Given the description of an element on the screen output the (x, y) to click on. 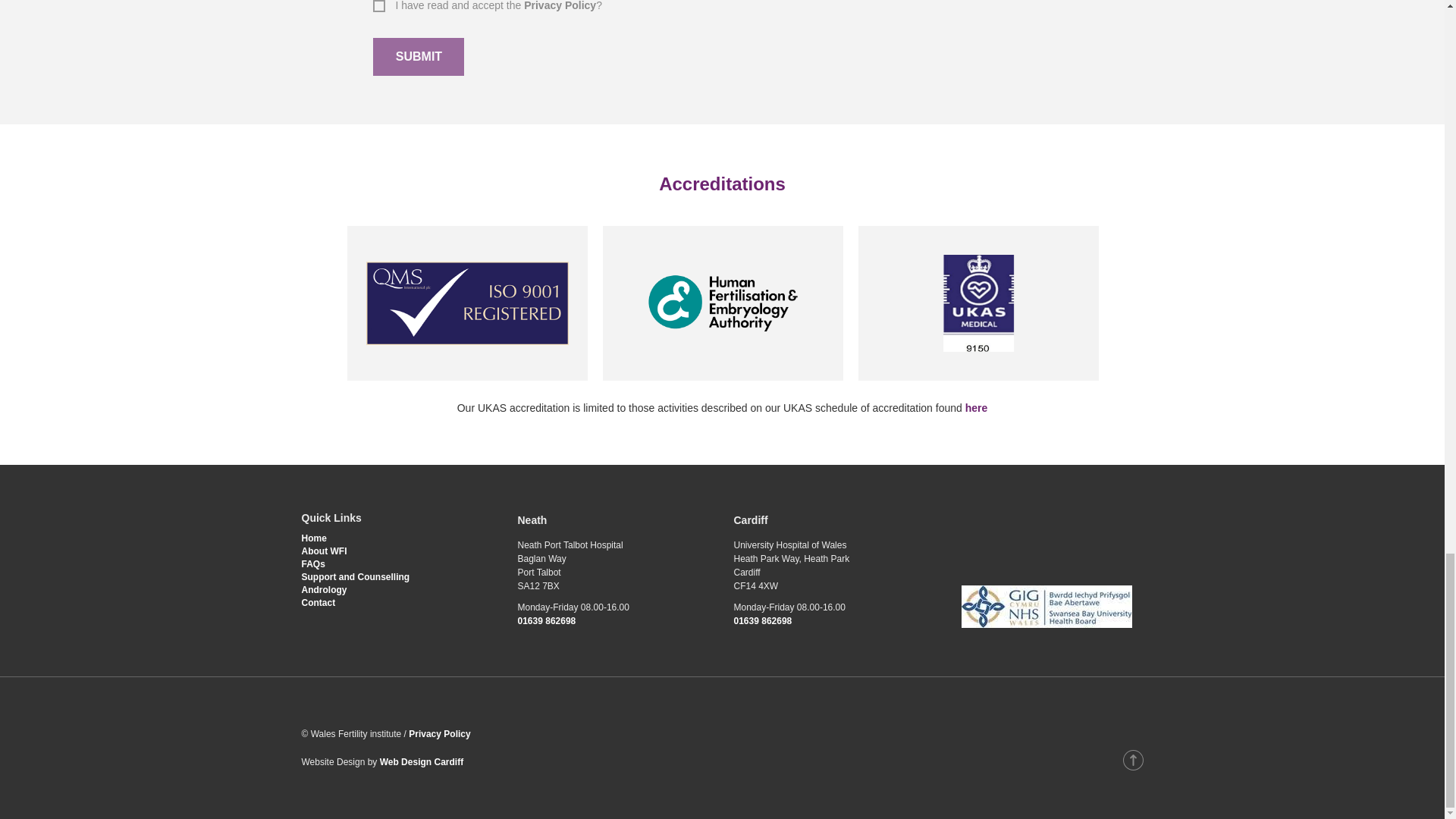
1 (377, 4)
